Given the description of an element on the screen output the (x, y) to click on. 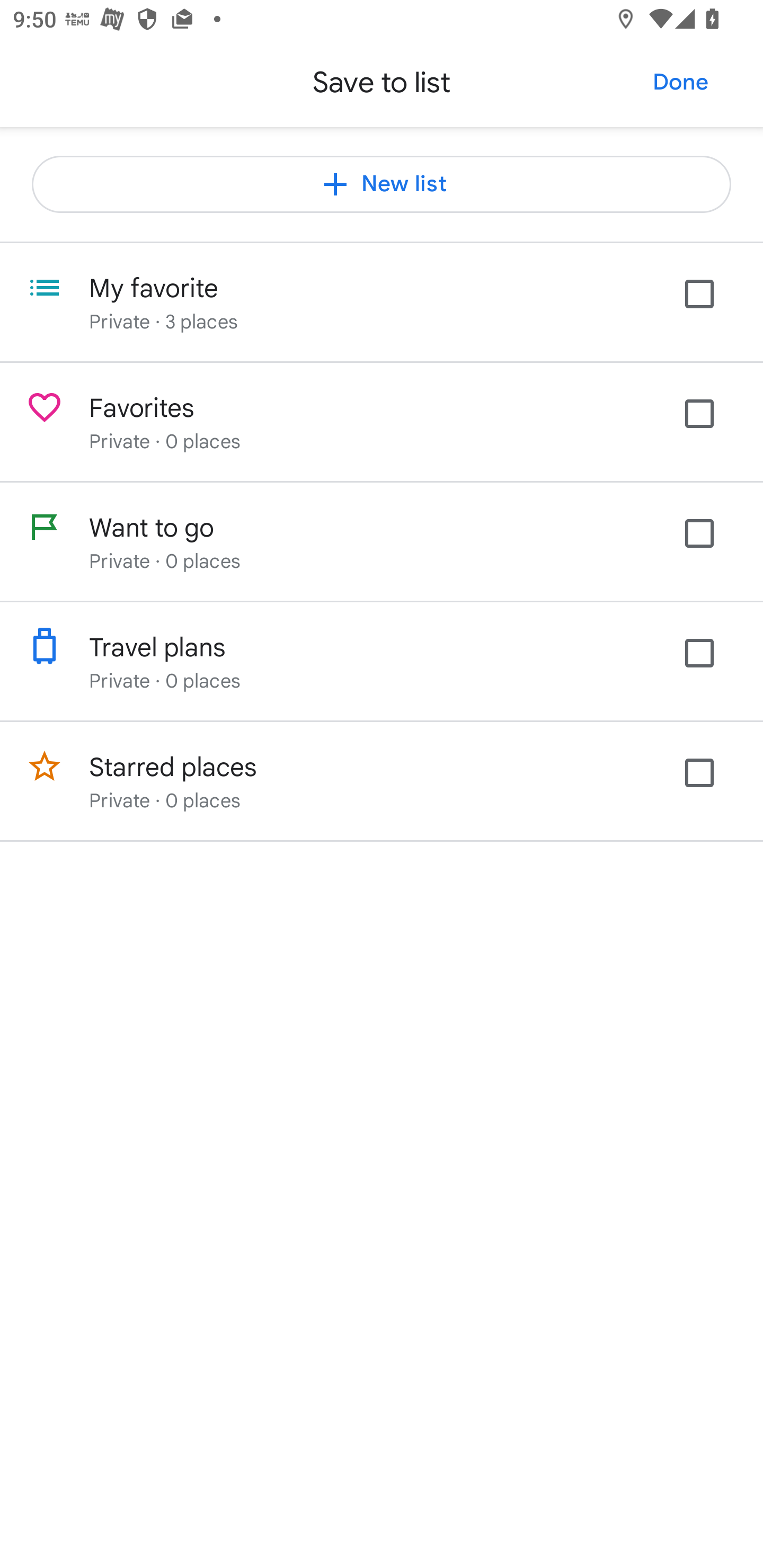
Done (680, 81)
New list (381, 183)
